Given the description of an element on the screen output the (x, y) to click on. 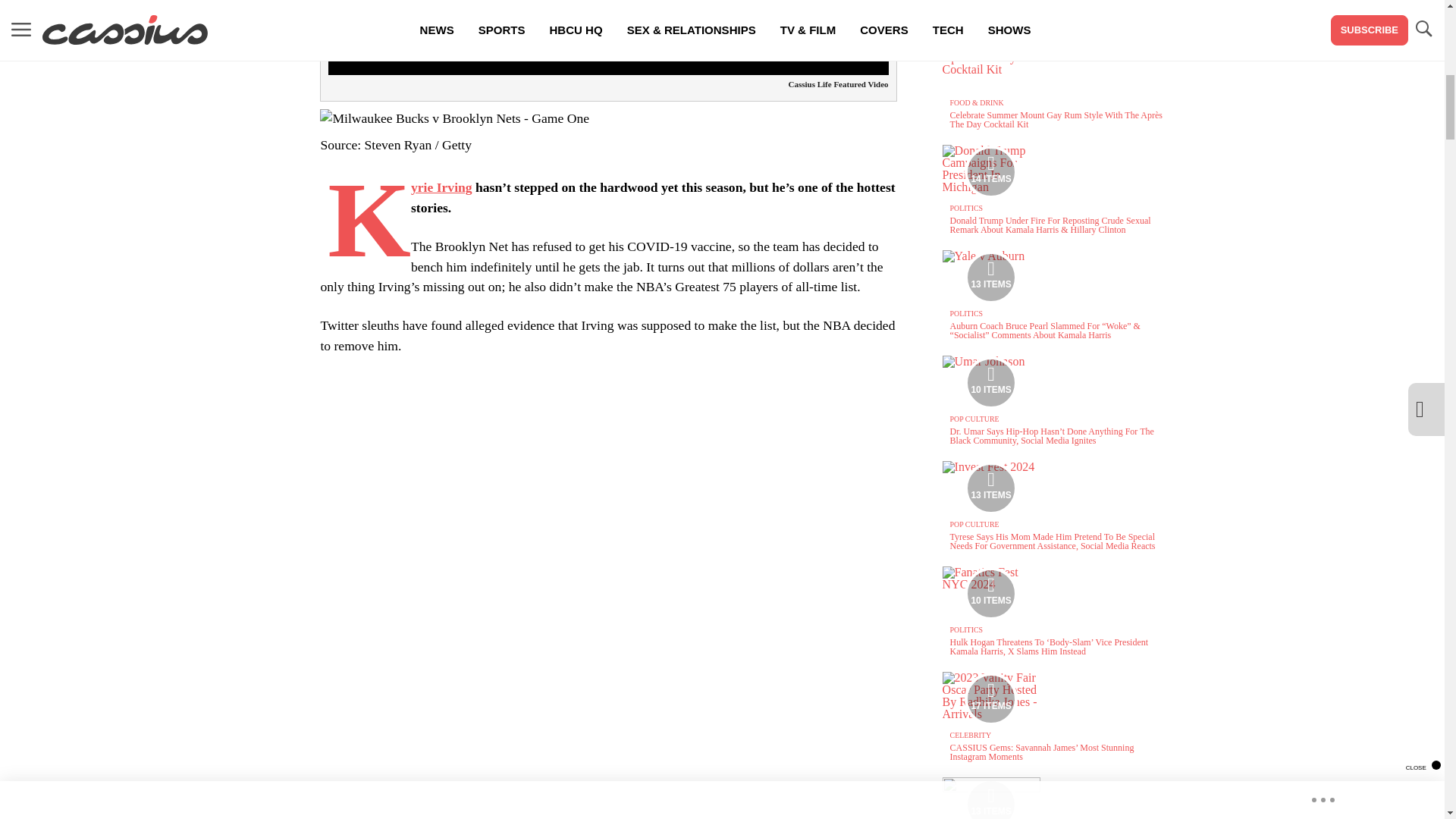
Media Playlist (990, 698)
POLITICS (966, 207)
Media Playlist (990, 798)
Media Playlist (990, 382)
13 ITEMS (991, 277)
Media Playlist (990, 488)
14 ITEMS (991, 171)
Media Playlist (990, 276)
Media Playlist (990, 593)
Media Playlist (990, 172)
